Given the description of an element on the screen output the (x, y) to click on. 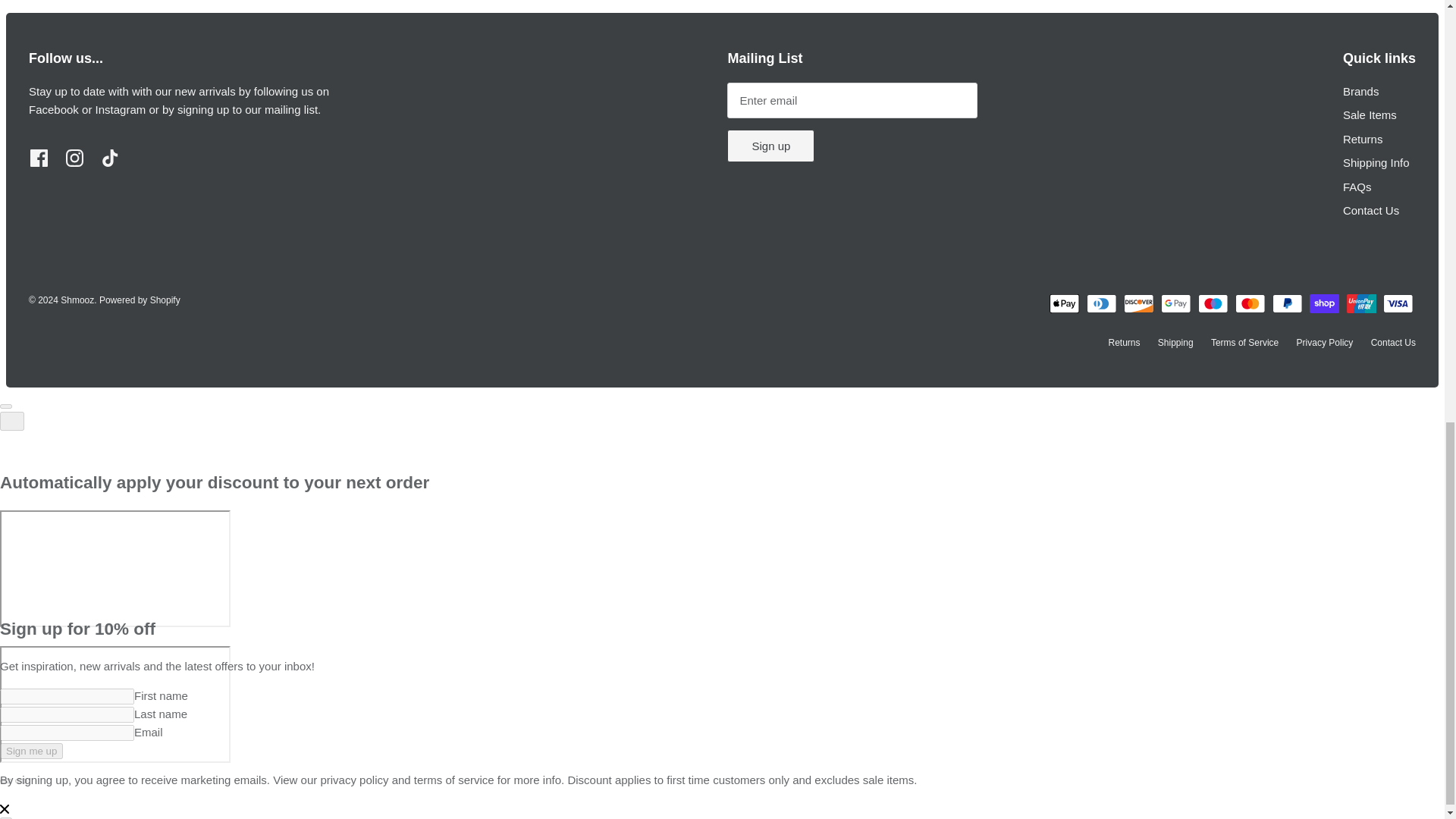
Mastercard (1249, 303)
Shmooz Facebook (53, 109)
Visa (1398, 303)
Diners Club (1101, 303)
Shop Pay (1323, 303)
Discover (1138, 303)
Apple Pay (1063, 303)
Google Pay (1175, 303)
Shmooz Instagram (121, 109)
Facebook (39, 158)
PayPal (1287, 303)
Union Pay (1361, 303)
Instagram (73, 158)
Maestro (1213, 303)
